Given the description of an element on the screen output the (x, y) to click on. 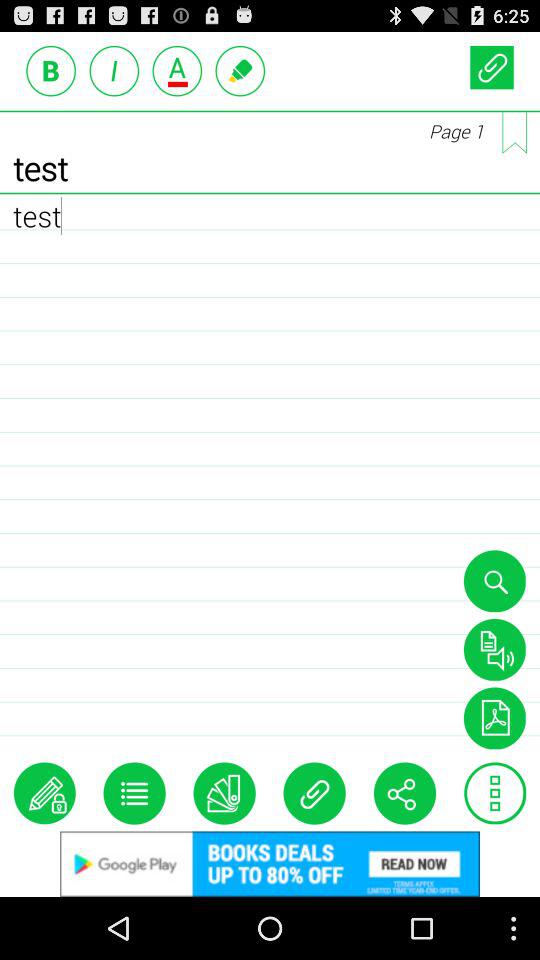
add bookmark (514, 132)
